Given the description of an element on the screen output the (x, y) to click on. 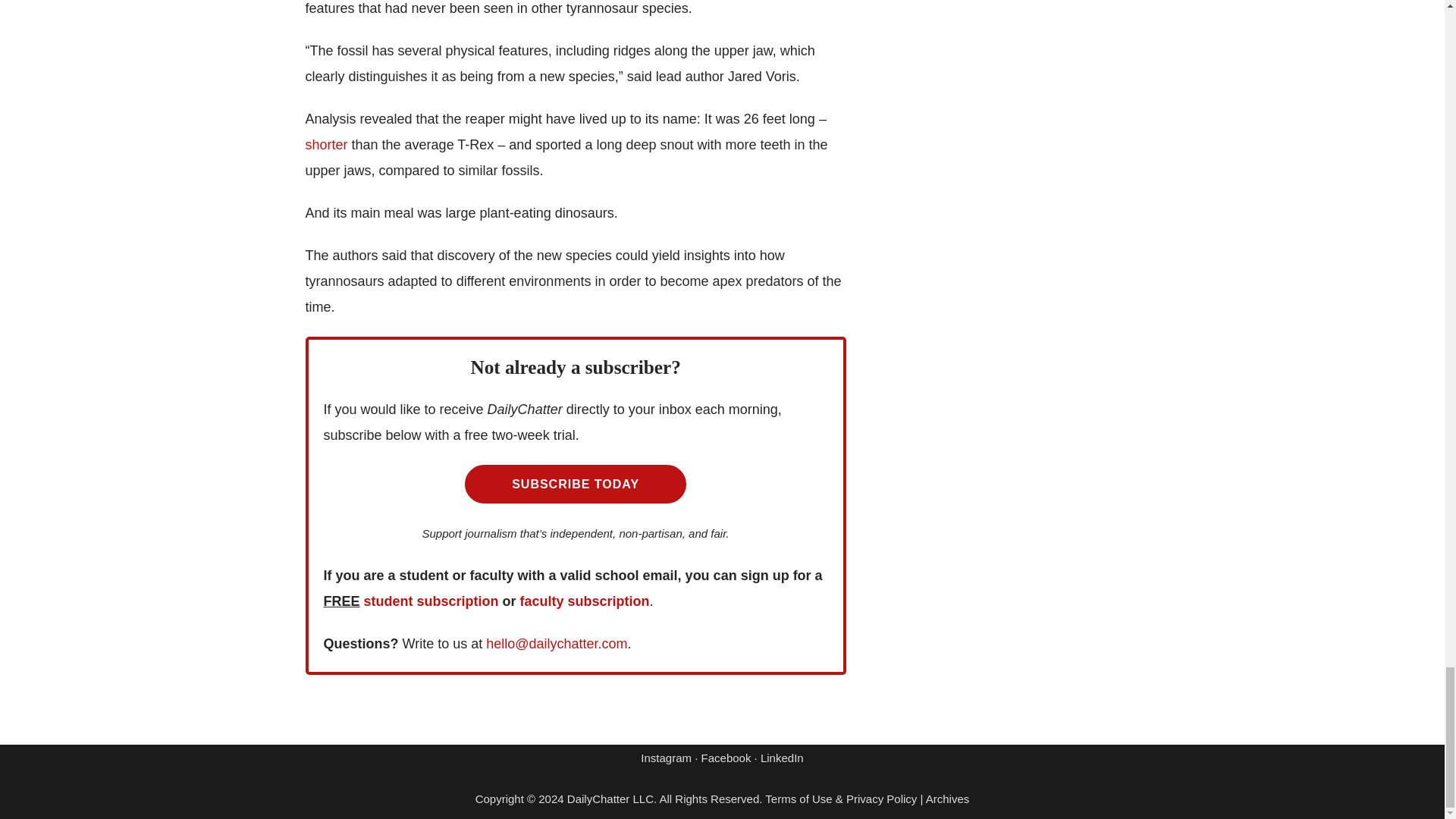
go to Facebook (726, 757)
go to LinkedIn (781, 757)
go to Instagram (665, 757)
